Given the description of an element on the screen output the (x, y) to click on. 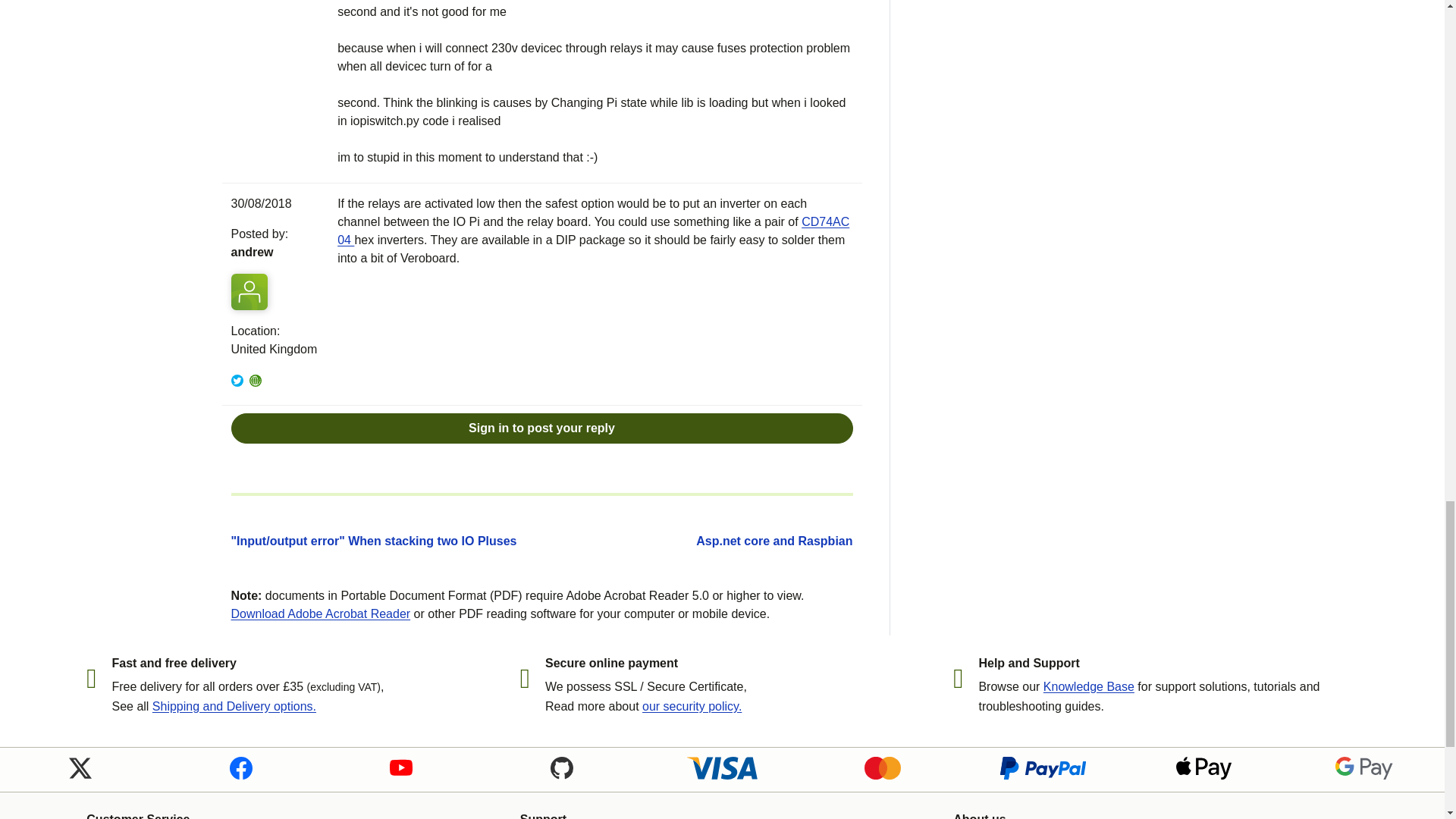
Visit us on Youtube (401, 766)
Visit us on Facebook (239, 767)
Visit us on X (79, 766)
Knowledge Base Guides (1088, 686)
Visit us on Facebook (239, 766)
Google Pay (1364, 767)
Visit us on GitHub (561, 767)
Paypal (1043, 767)
Visit us on Youtube (401, 767)
Visit us on X (79, 767)
